Given the description of an element on the screen output the (x, y) to click on. 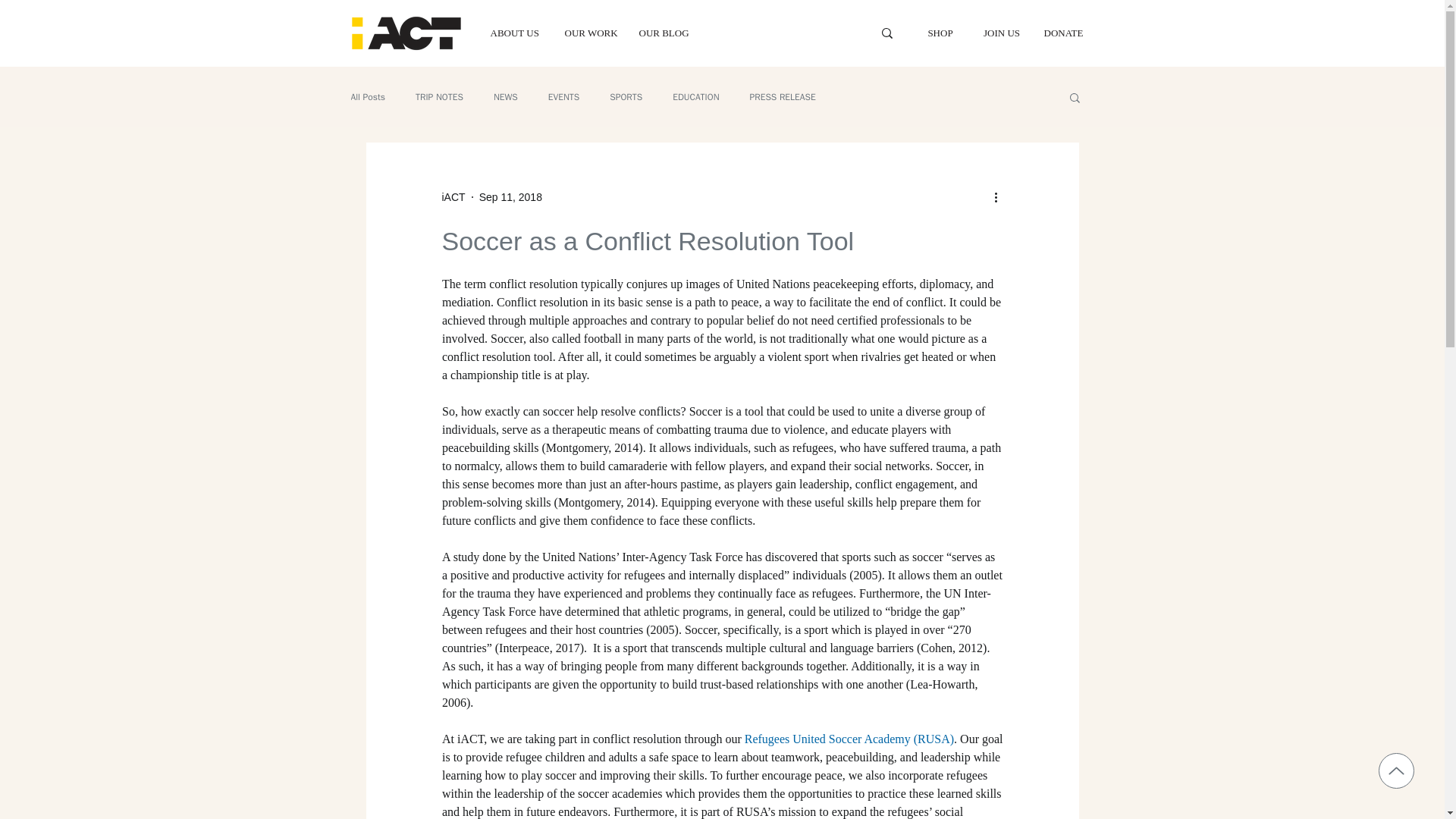
PRESS RELEASE (782, 97)
ABOUT US (516, 32)
EVENTS (563, 97)
NEWS (505, 97)
JOIN US (1001, 32)
DONATE (1063, 32)
SPORTS (626, 97)
Sep 11, 2018 (510, 196)
OUR BLOG (664, 32)
iACT (452, 197)
